Given the description of an element on the screen output the (x, y) to click on. 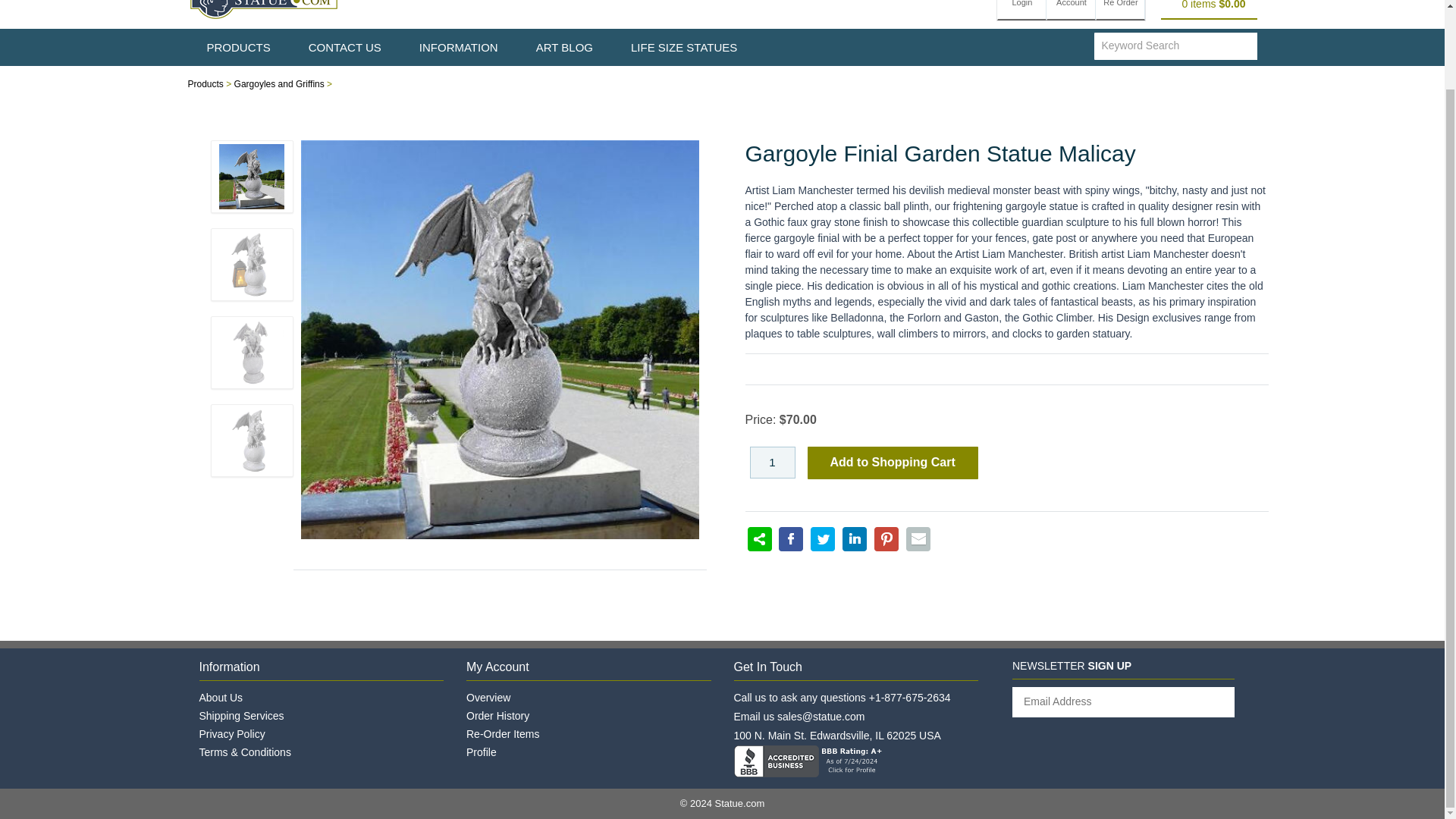
LIFE SIZE STATUES (683, 47)
Account (1071, 10)
1 (771, 461)
Re Order (1120, 10)
PRODUCTS (238, 47)
Login (1021, 10)
Products (205, 83)
INFORMATION (458, 47)
CONTACT US (344, 47)
ART BLOG (563, 47)
Add to Shopping Cart (891, 462)
Gargoyles and Griffins (279, 83)
Login (1021, 10)
